Given the description of an element on the screen output the (x, y) to click on. 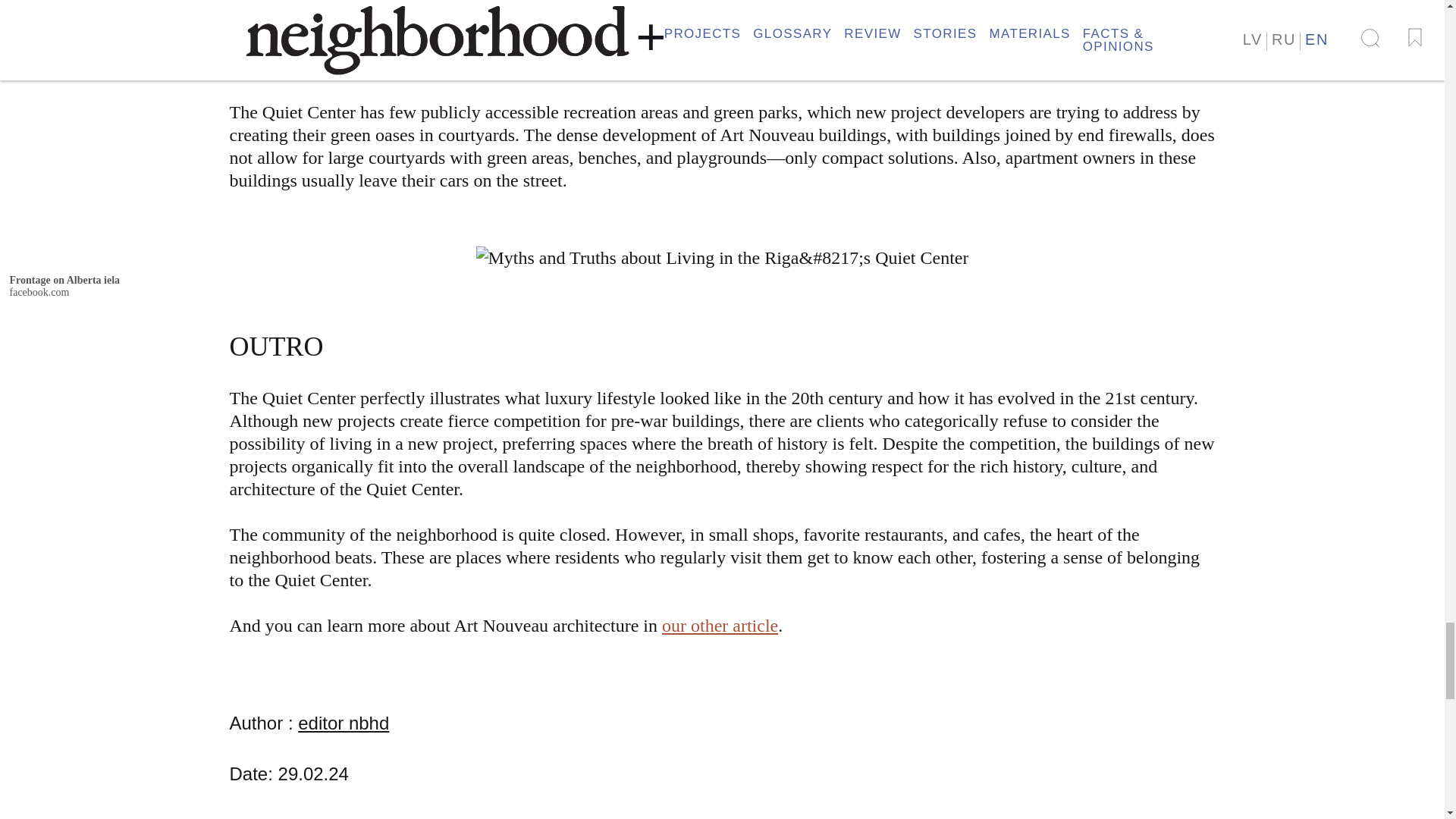
our other article (719, 625)
editor nbhd (343, 722)
